Given the description of an element on the screen output the (x, y) to click on. 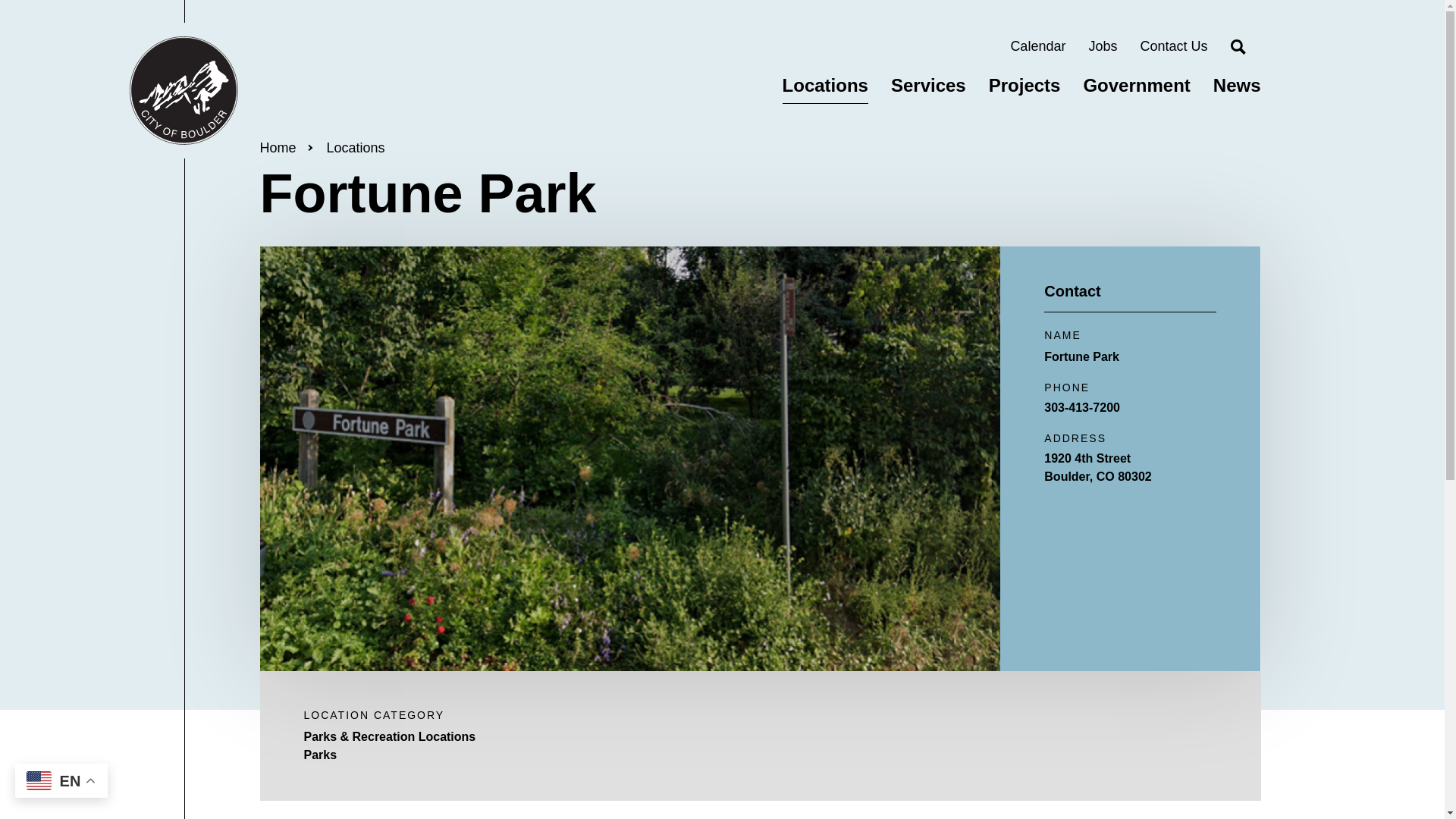
Projects (1024, 85)
Search (1237, 46)
Contact Us (1129, 467)
Home (1173, 46)
Skip to main content (277, 147)
Jobs (3, 3)
Calendar (1101, 46)
Services (1037, 46)
News (928, 85)
Home (1236, 85)
Locations (183, 90)
Government (355, 147)
Locations (1136, 85)
